Given the description of an element on the screen output the (x, y) to click on. 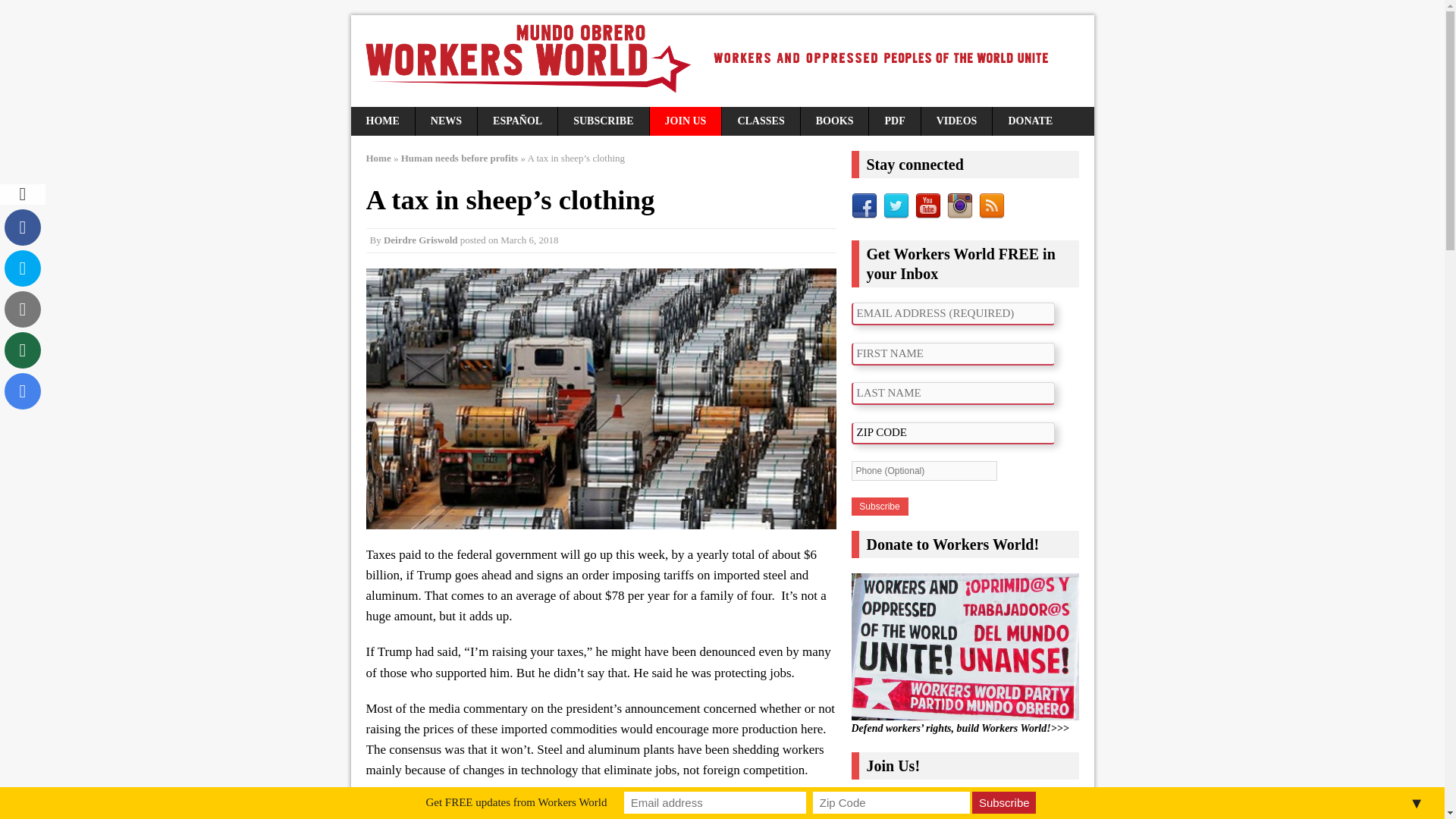
Subscribe (1003, 802)
Subscribe (878, 506)
Workers World (721, 61)
